Given the description of an element on the screen output the (x, y) to click on. 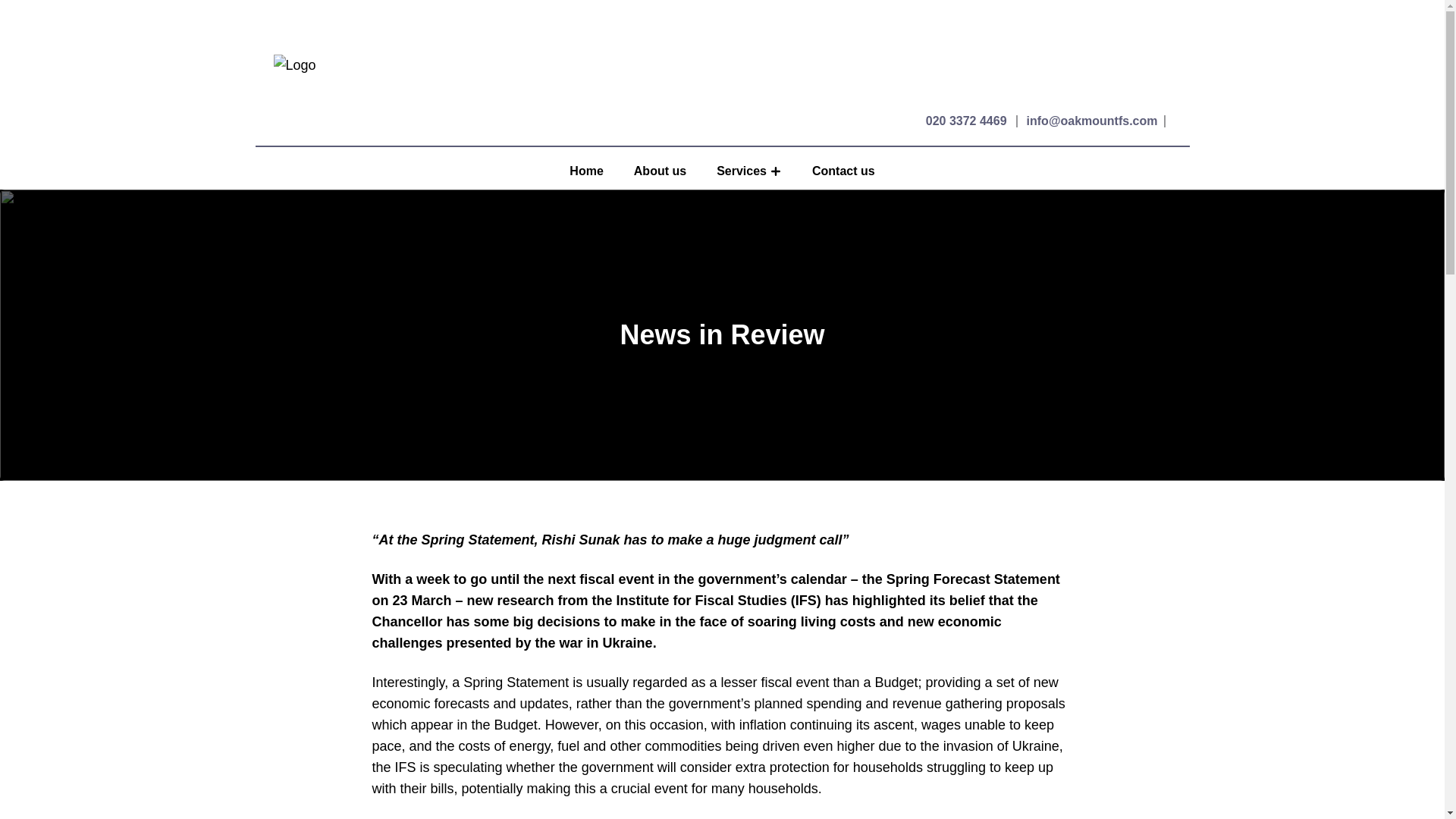
About us (659, 171)
Home (585, 171)
020 3372 4469 (966, 120)
Contact us (842, 171)
Services (734, 171)
